Given the description of an element on the screen output the (x, y) to click on. 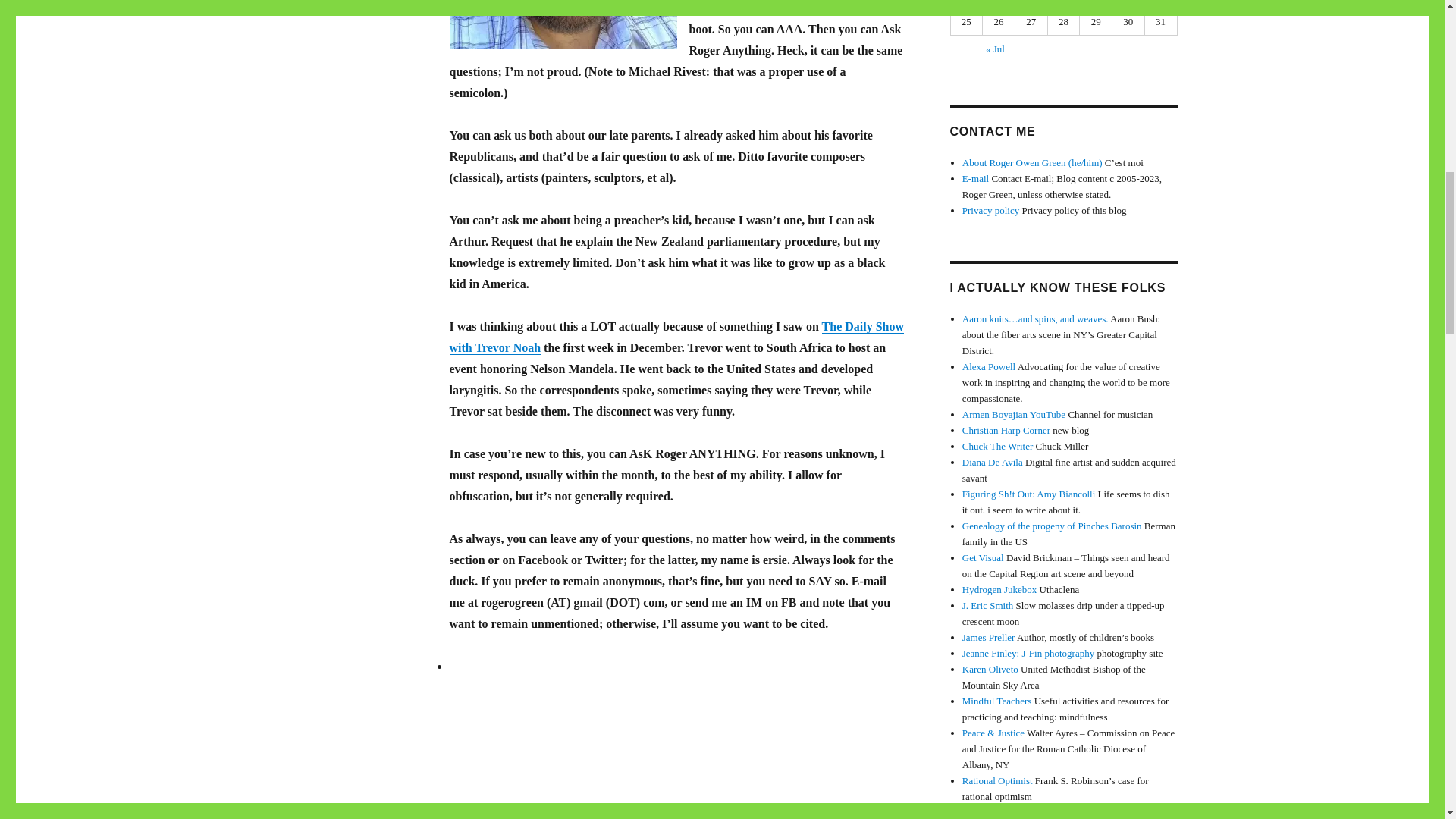
Mindful Teachers (997, 700)
Rational Optimist (997, 780)
Jeanne Finley: J-Fin photography (1028, 653)
Genealogy of the progeny of Pinches Barosin (1051, 525)
Armen Boyajian YouTube (1013, 414)
Privacy policy of this blog (990, 210)
Christian Harp Corner (1005, 430)
Rebecca Jade music (1002, 812)
J. Eric Smith (987, 604)
